Given the description of an element on the screen output the (x, y) to click on. 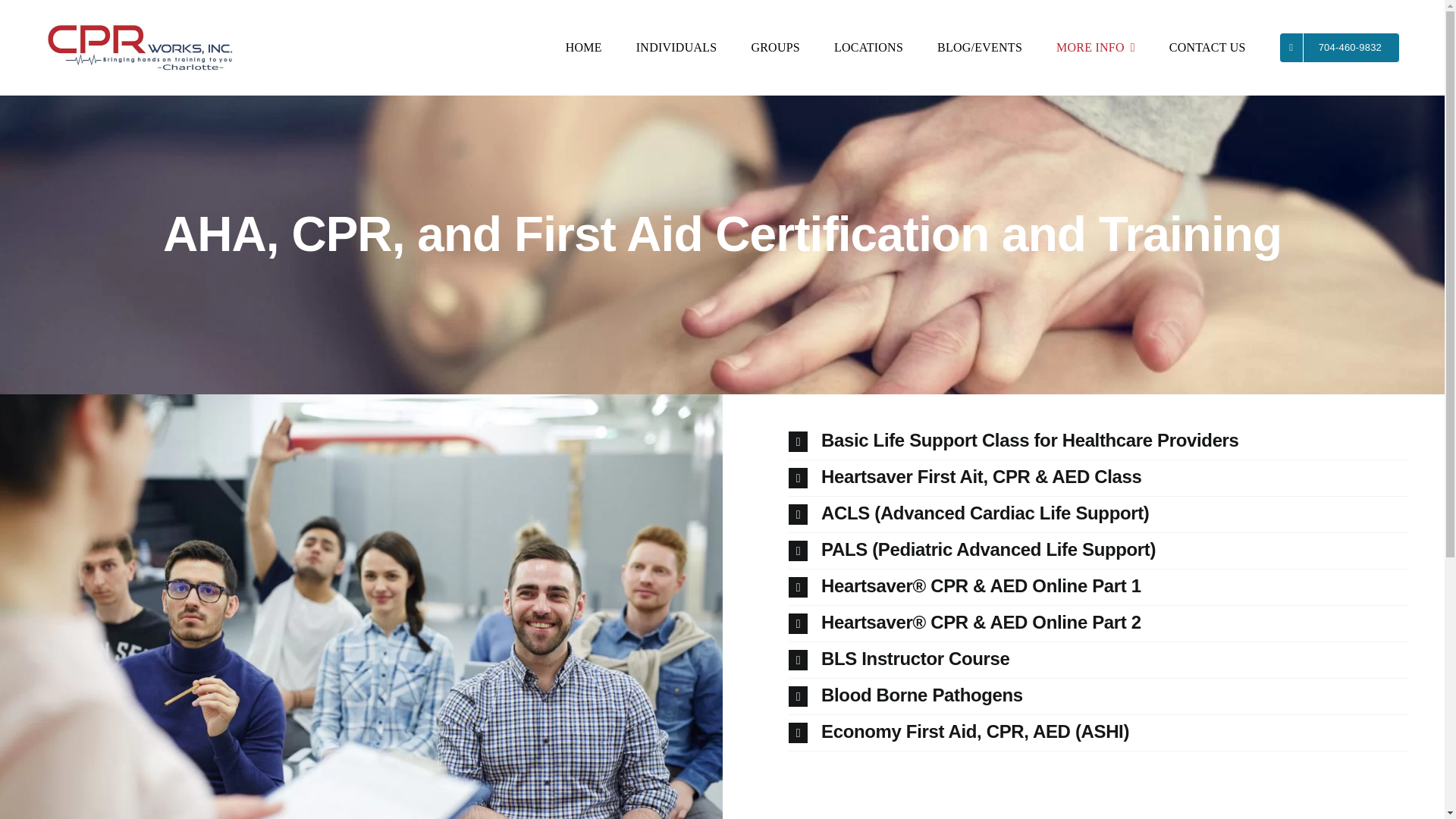
MORE INFO (1096, 47)
LOCATIONS (868, 47)
704-460-9832 (1339, 47)
INDIVIDUALS (676, 47)
CONTACT US (1207, 47)
Basic Life Support Class for Healthcare Providers (1098, 441)
GROUPS (775, 47)
